Given the description of an element on the screen output the (x, y) to click on. 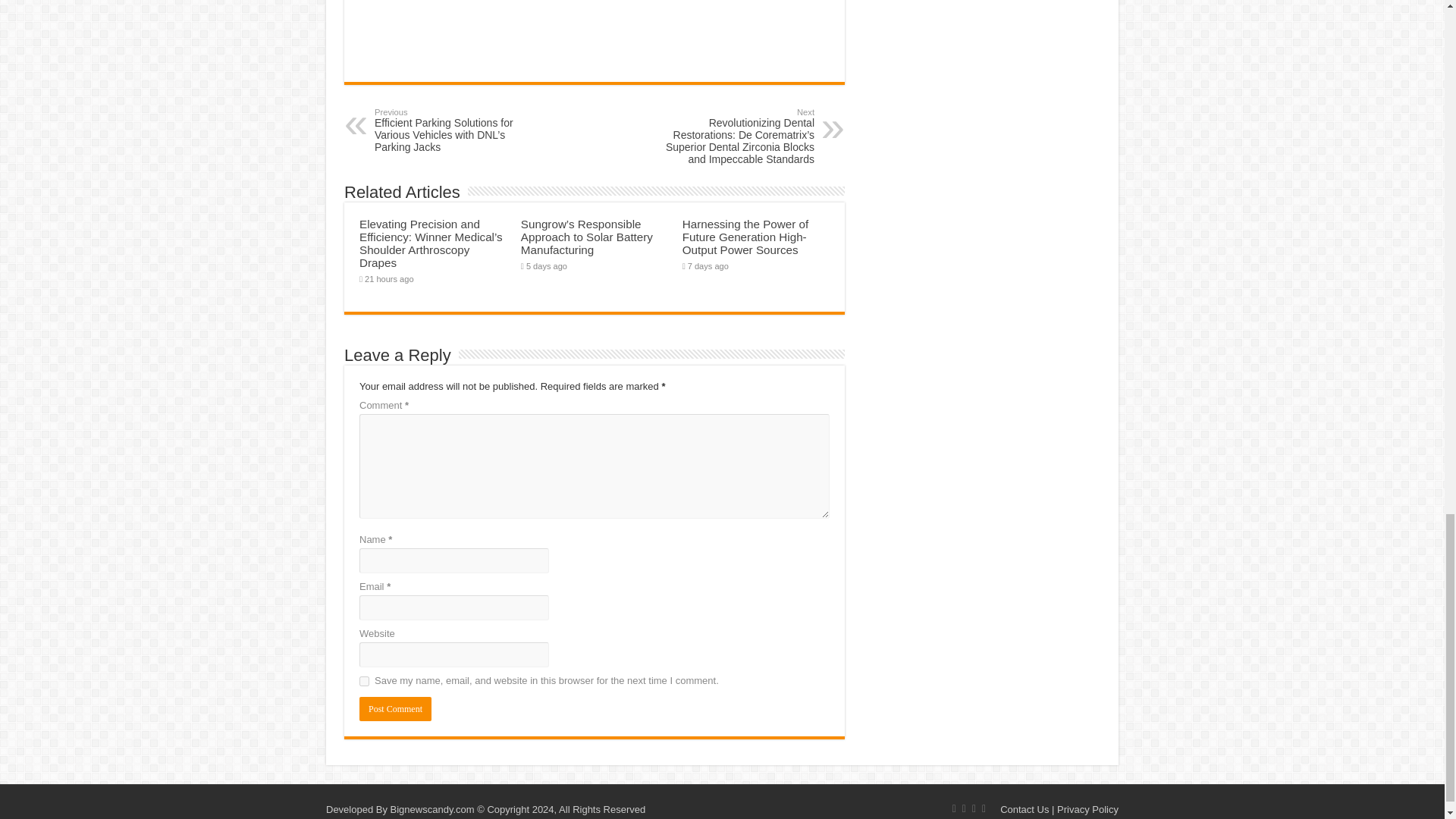
Post Comment (394, 708)
yes (364, 681)
